Given the description of an element on the screen output the (x, y) to click on. 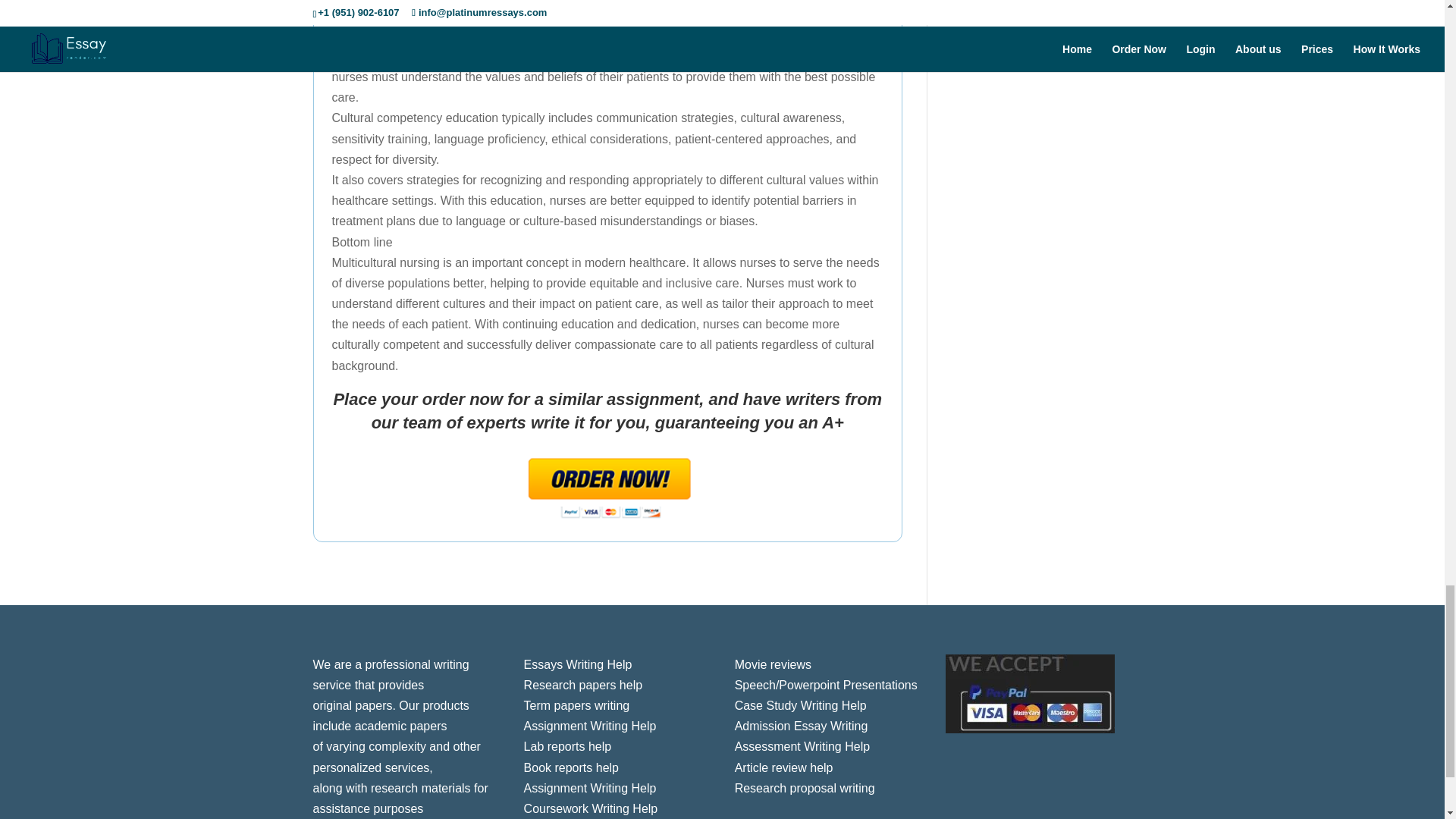
original papers. Our products include academic papers (390, 715)
Research papers help (583, 684)
Assignment Writing Help (590, 788)
Article review help (783, 767)
Assessment Writing Help (802, 746)
Term papers writing (577, 705)
Book reports help (571, 767)
We are a professional writing service that provides (390, 674)
of varying complexity and other personalized services, (396, 756)
Case Study Writing Help (800, 705)
